Given the description of an element on the screen output the (x, y) to click on. 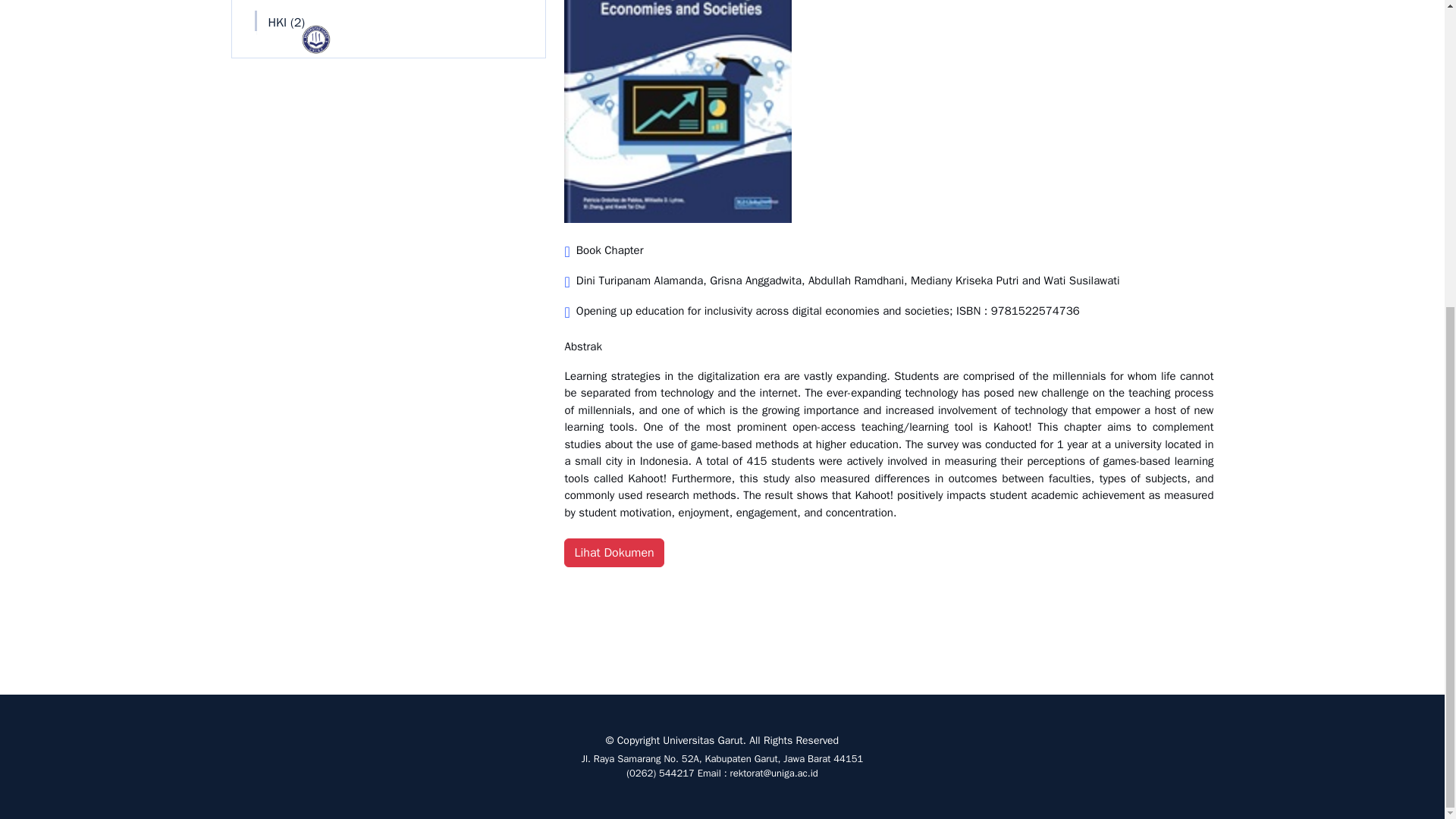
Lihat Dokumen (613, 552)
